Given the description of an element on the screen output the (x, y) to click on. 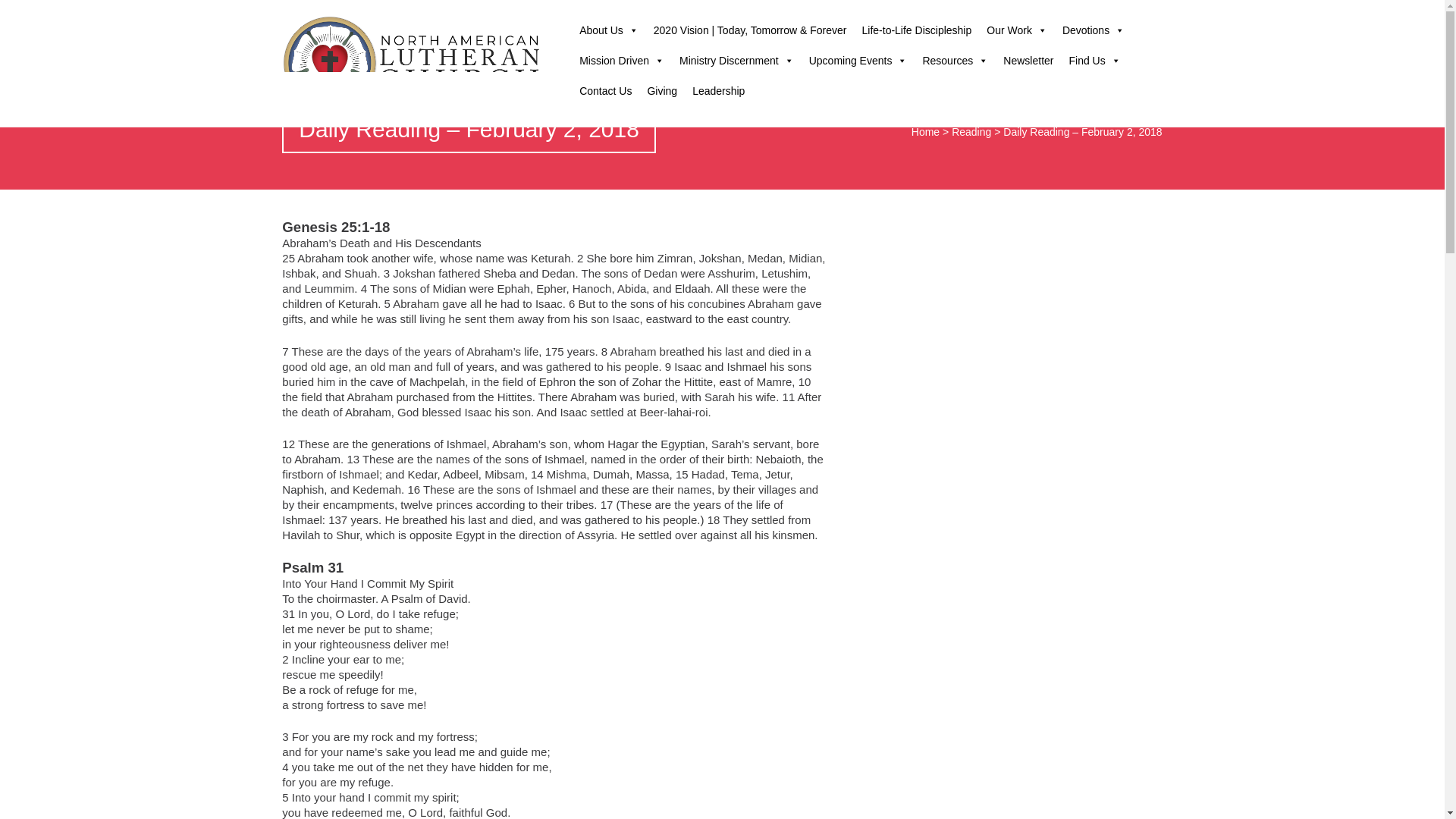
Tel.:888-551-7254 (959, 11)
Our Work (1016, 30)
Social Buttons (1051, 15)
North American Lutheran Church -  (413, 63)
Life-to-Life Discipleship (916, 30)
Search (1082, 15)
Contact (1021, 15)
DONATE (1129, 10)
Search (21, 12)
About Us (609, 30)
